Given the description of an element on the screen output the (x, y) to click on. 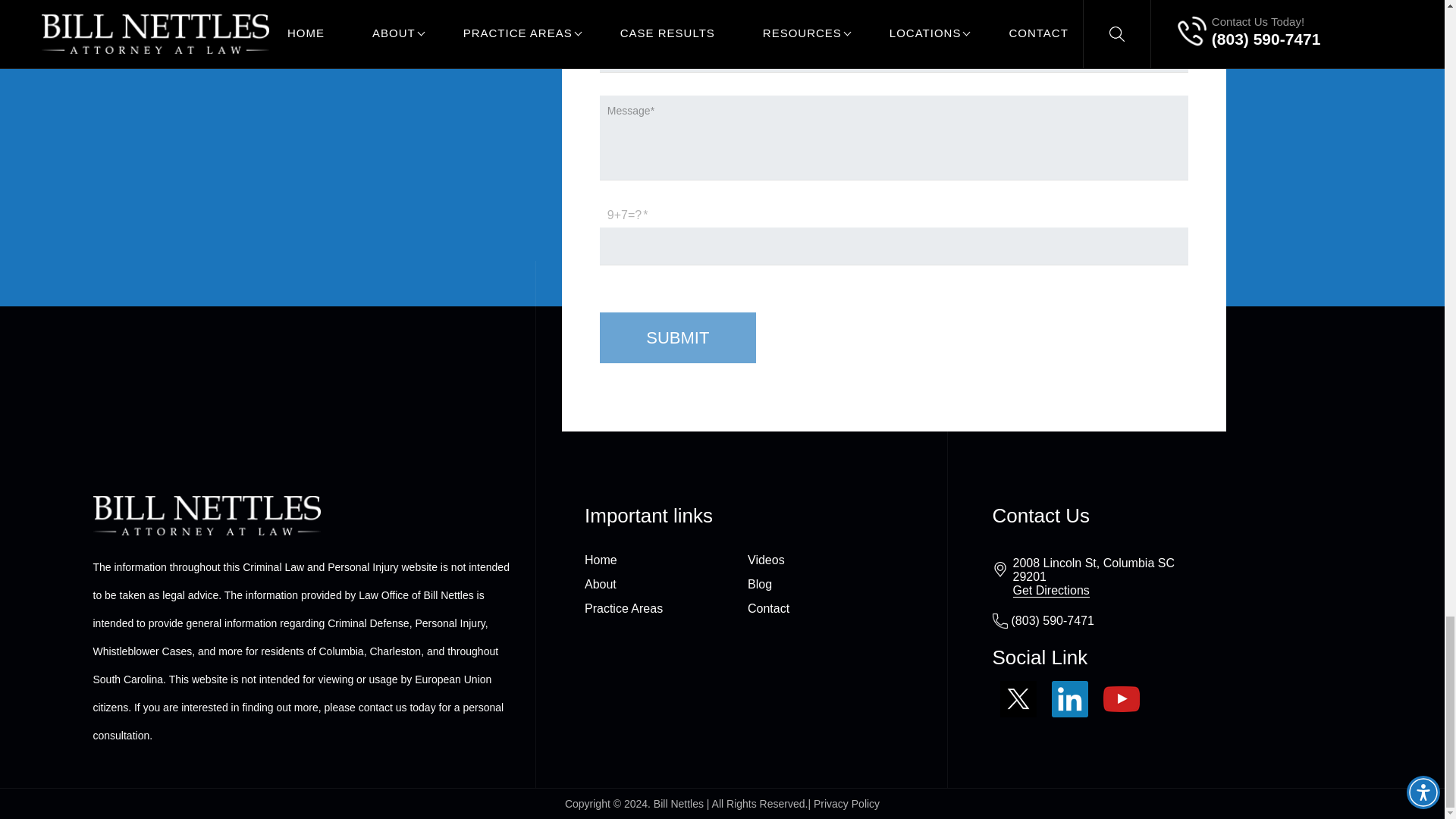
Submit (677, 337)
